Given the description of an element on the screen output the (x, y) to click on. 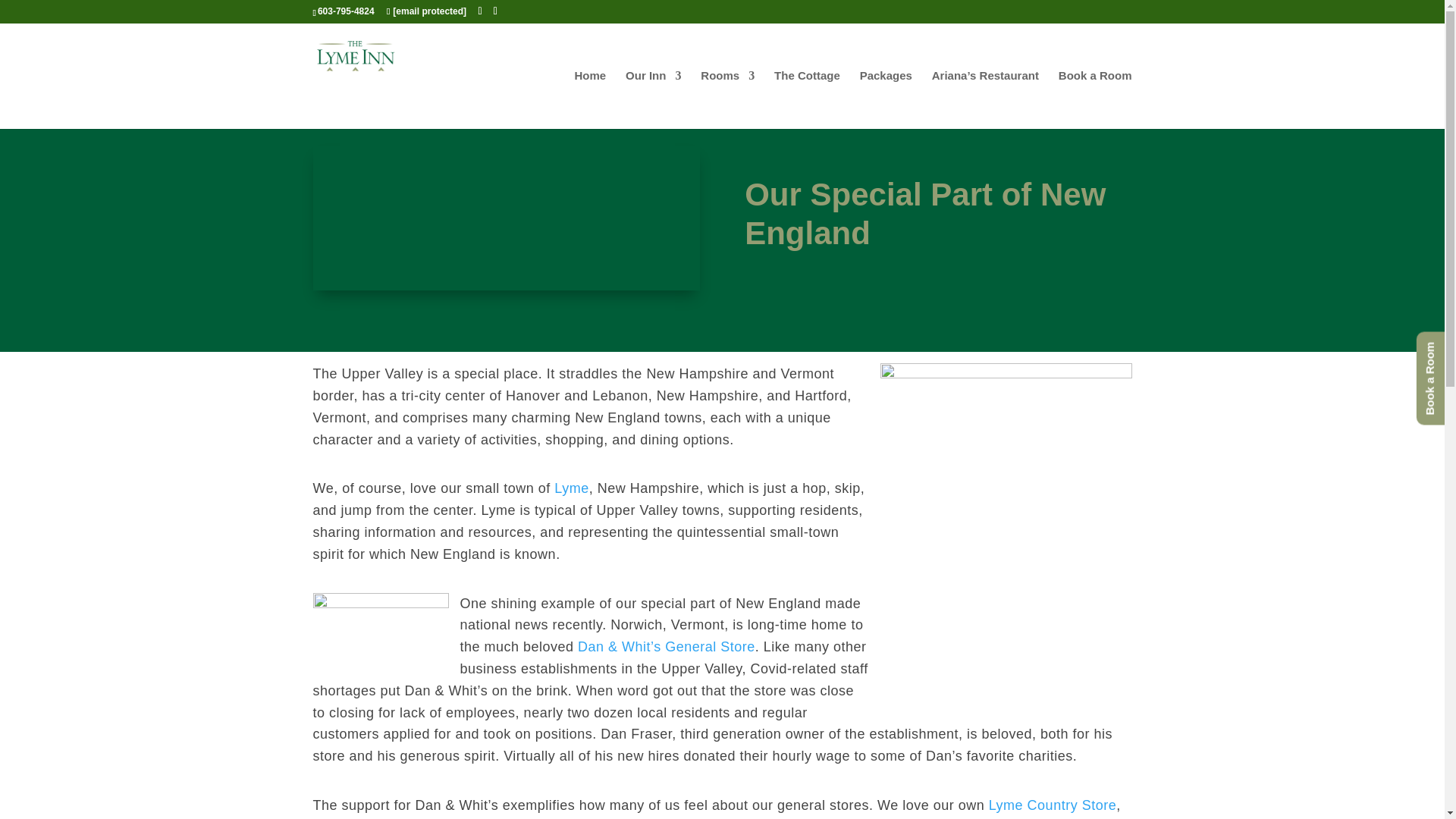
Rooms (727, 99)
Lyme Country Store (1052, 805)
The Cottage (807, 99)
Book a Room (1095, 99)
Our Inn (653, 99)
Lyme (571, 488)
Packages (886, 99)
